Given the description of an element on the screen output the (x, y) to click on. 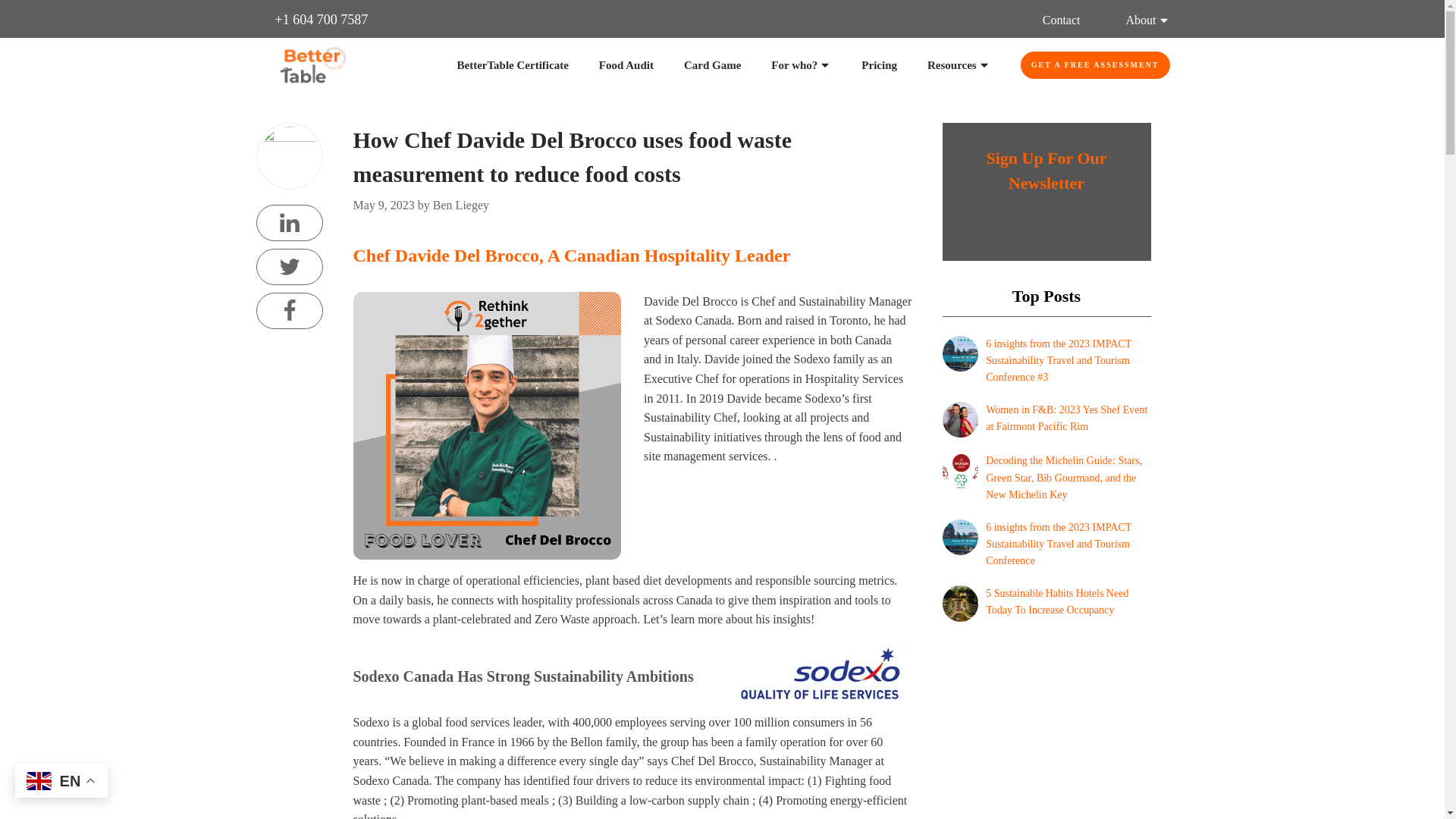
Contact (1061, 20)
BetterTable Certificate (512, 65)
Resources (958, 65)
Food Audit (625, 65)
GET A FREE ASSESSMENT (1095, 64)
For who? (801, 65)
About (1147, 20)
Card Game (712, 65)
